Given the description of an element on the screen output the (x, y) to click on. 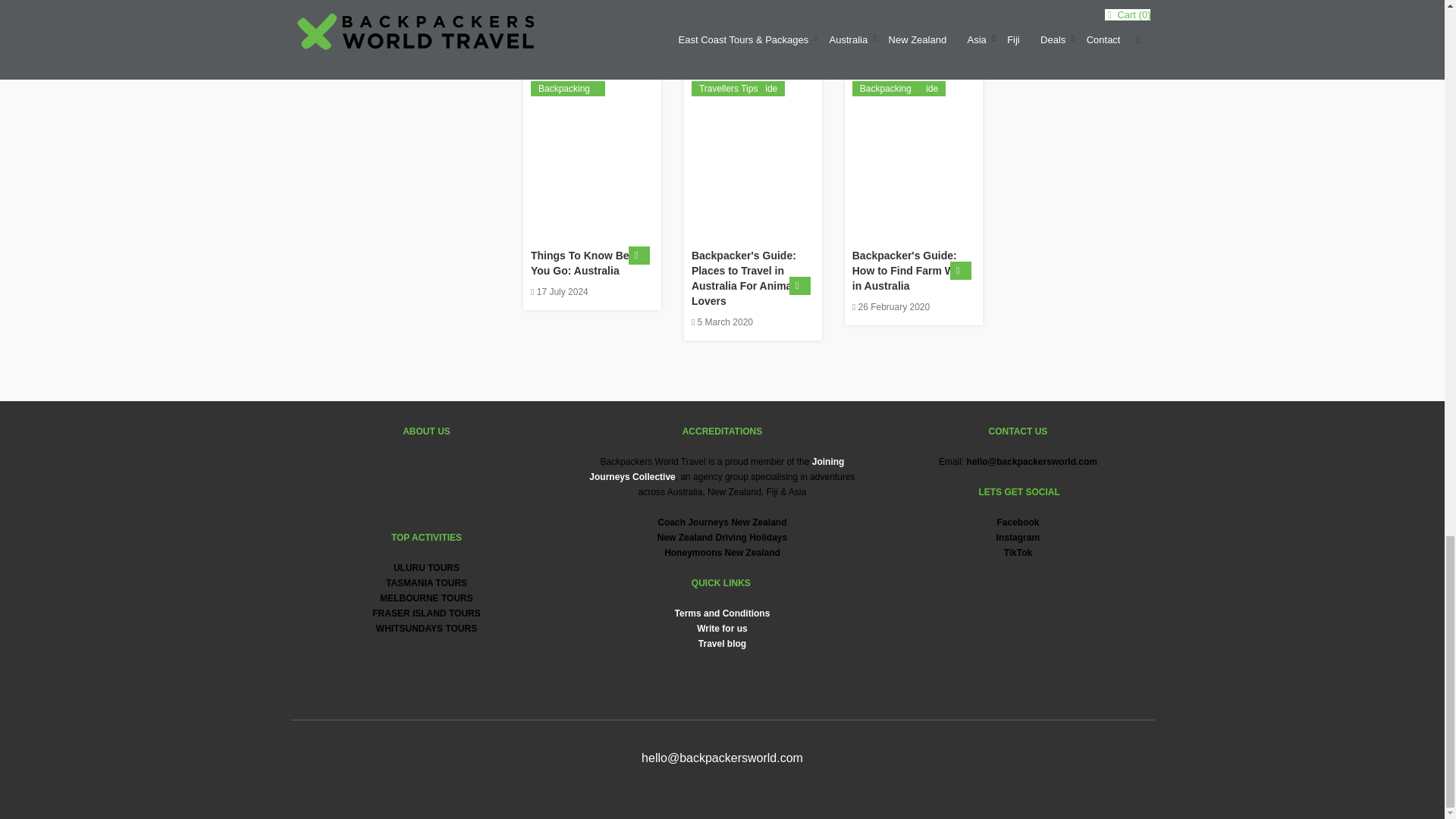
View all posts tagged 'Australia' (555, 88)
View all posts tagged 'Backpacking' (563, 88)
View all posts tagged 'Travellers Tips' (568, 88)
